Given the description of an element on the screen output the (x, y) to click on. 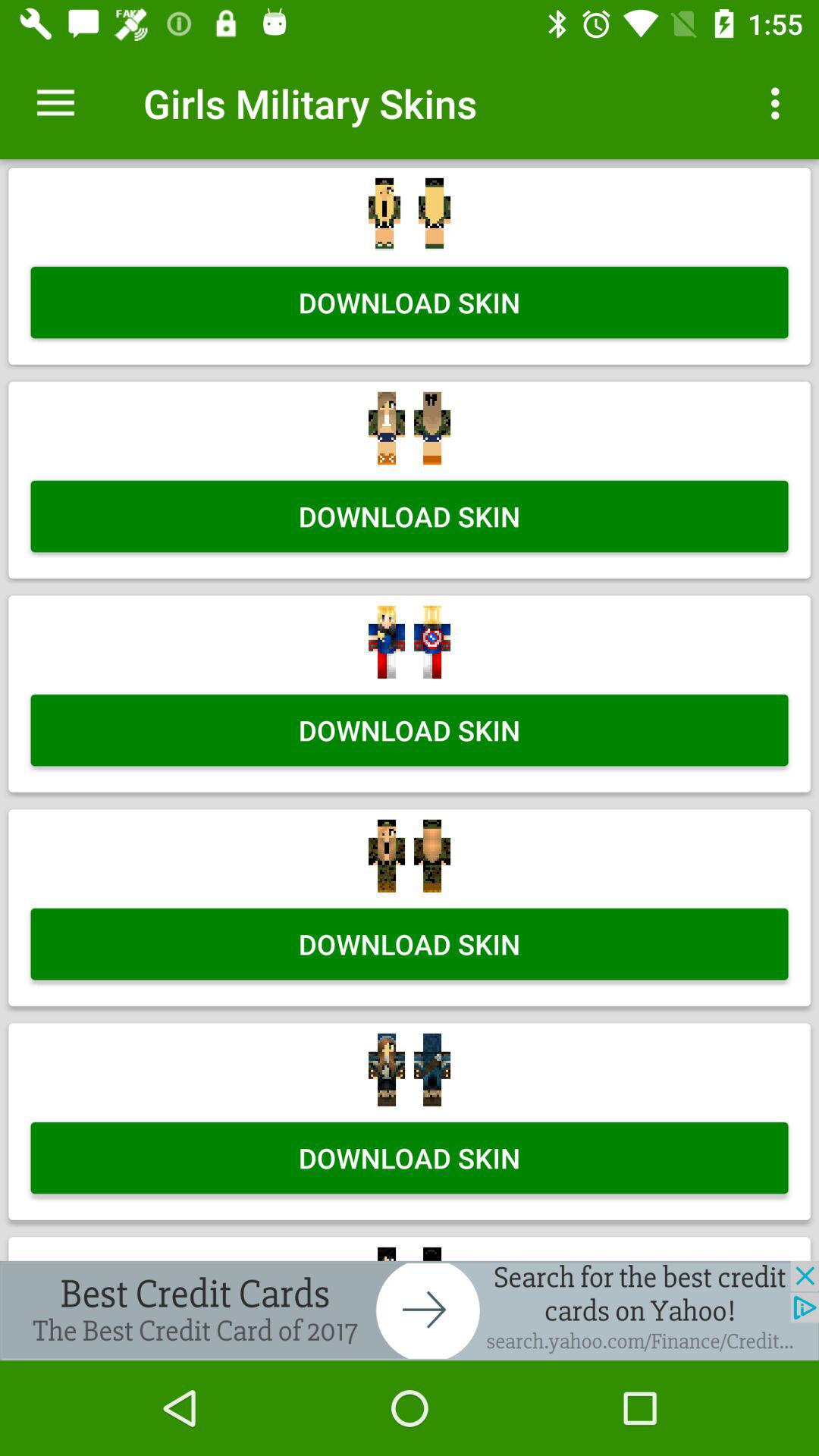
go back (409, 1310)
